Given the description of an element on the screen output the (x, y) to click on. 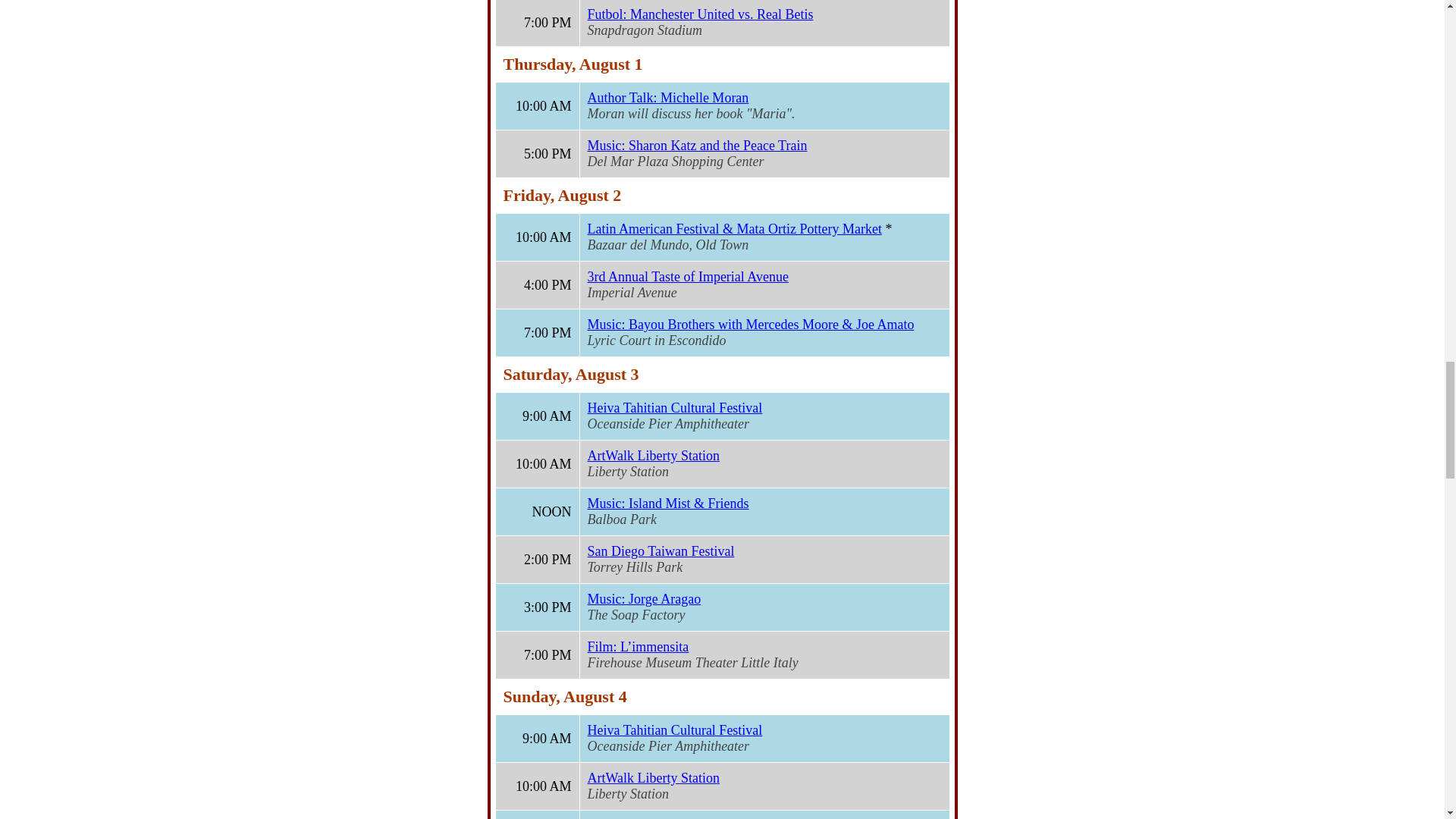
Futbol: Manchester United vs. Real Betis (699, 14)
Heiva Tahitian Cultural Festival (673, 407)
ArtWalk Liberty Station (652, 455)
San Diego Taiwan Festival (659, 550)
Author Talk: Michelle Moran (667, 97)
3rd Annual Taste of Imperial Avenue (687, 276)
Music: Sharon Katz and the Peace Train (696, 145)
